Given the description of an element on the screen output the (x, y) to click on. 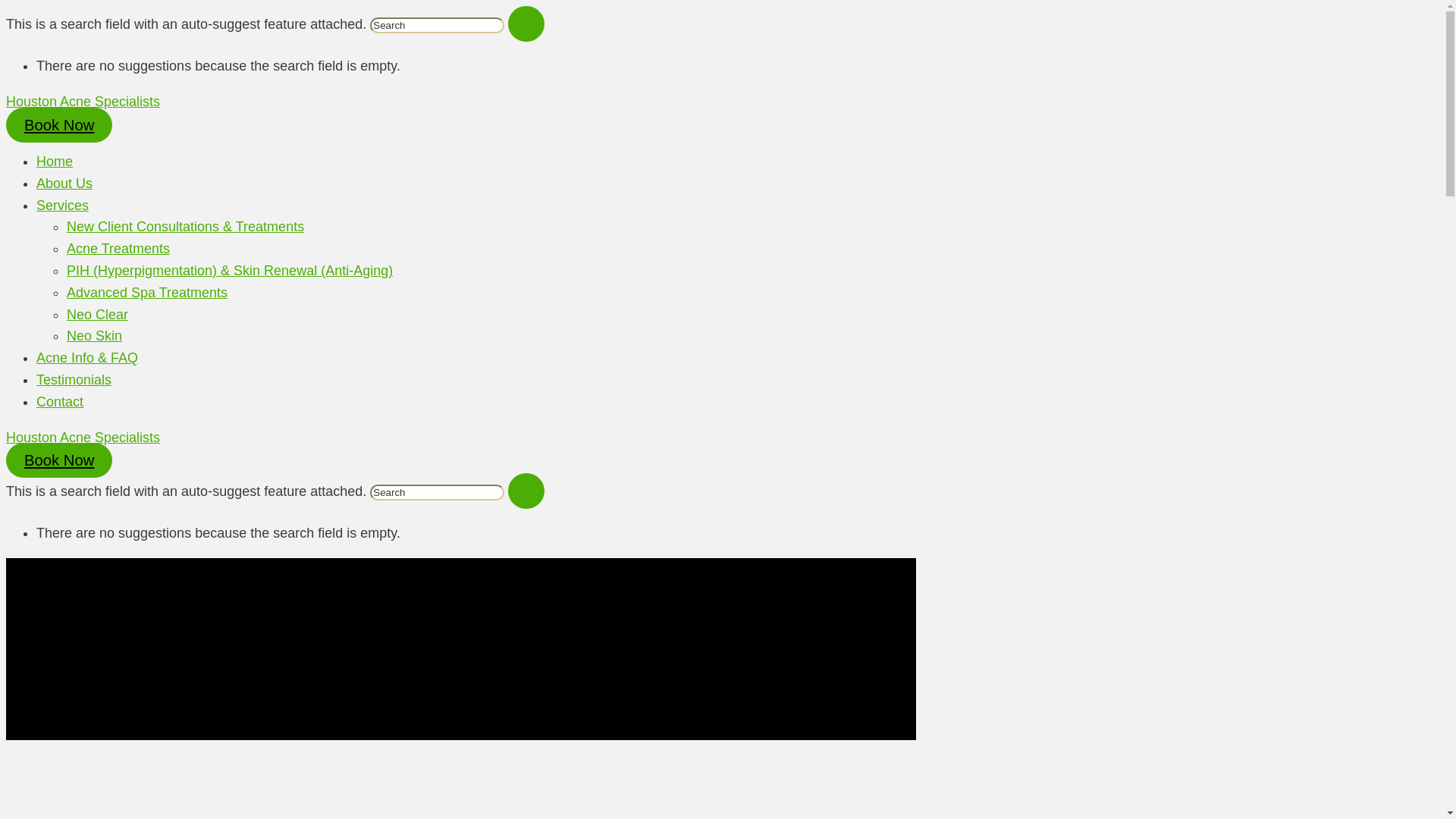
Contact (59, 401)
Neo Clear (97, 314)
Houston Acne Specialists (82, 437)
Houston Acne Specialists (82, 101)
Testimonials (74, 379)
Acne Treatments (118, 248)
Neo Skin (94, 335)
Services (62, 205)
About Us (64, 183)
